Given the description of an element on the screen output the (x, y) to click on. 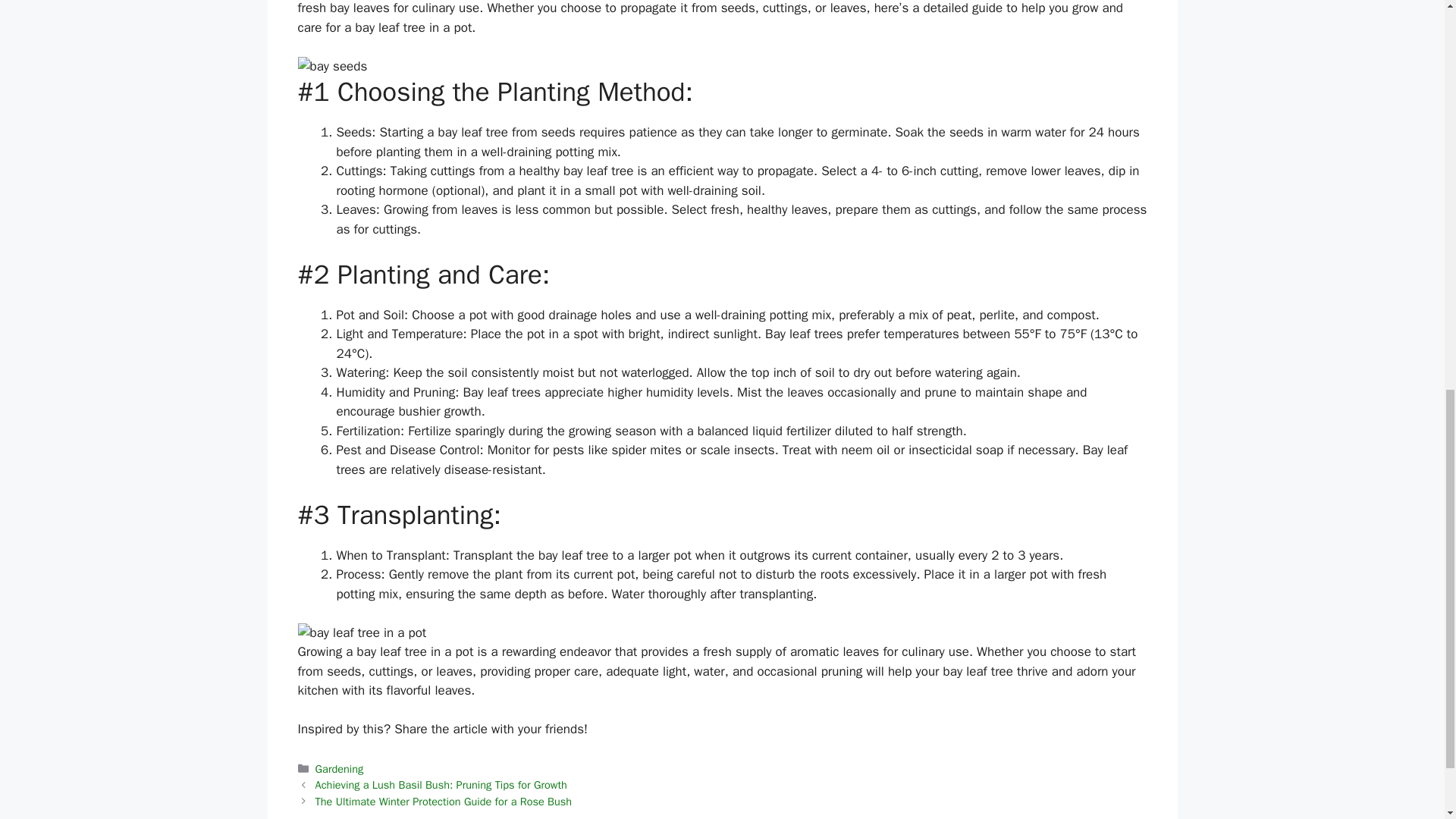
The Ultimate Winter Protection Guide for a Rose Bush (443, 801)
Achieving a Lush Basil Bush: Pruning Tips for Growth (441, 784)
Gardening (339, 768)
